Given the description of an element on the screen output the (x, y) to click on. 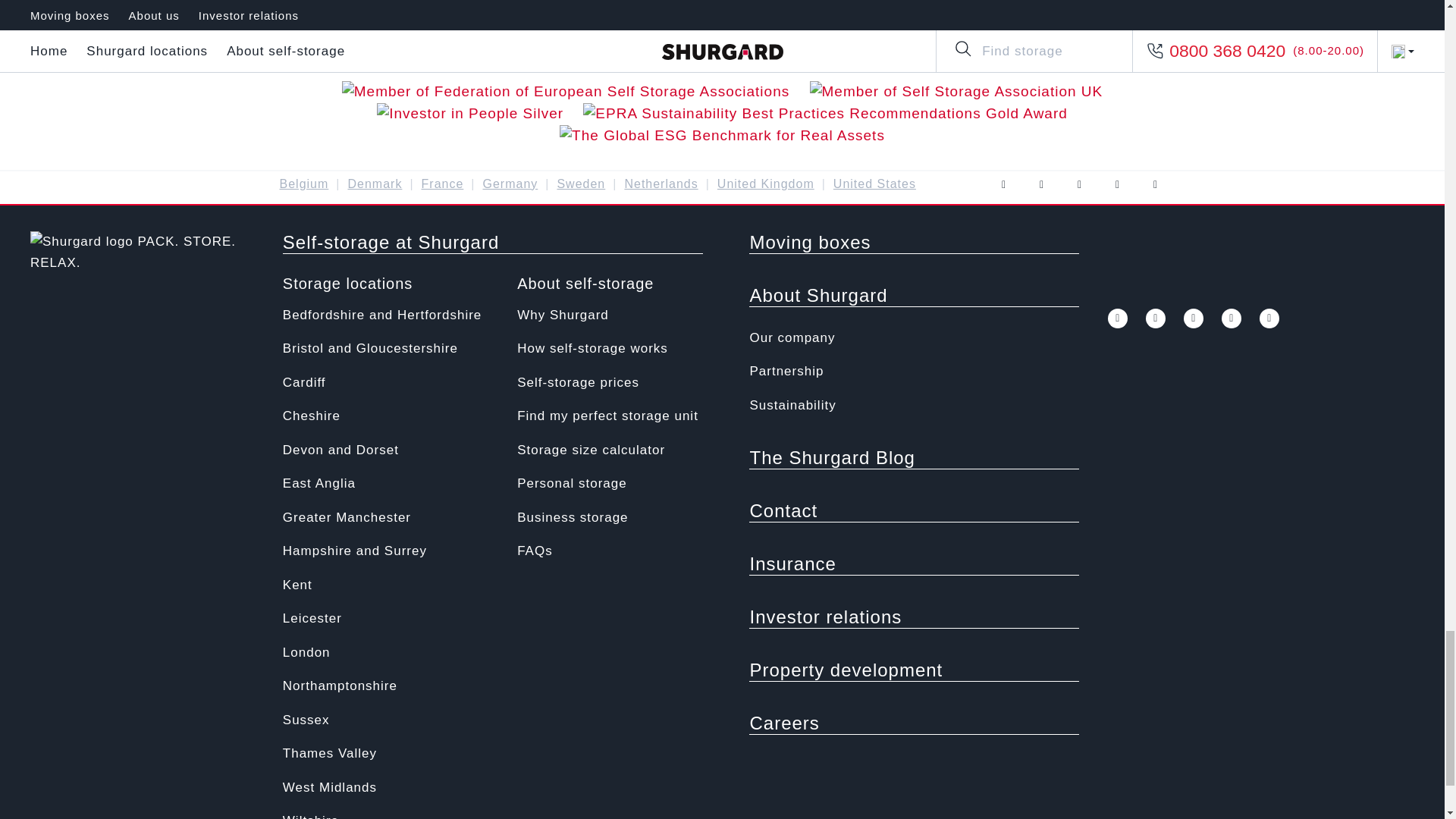
facebook (1117, 318)
facebook (1002, 184)
pinterest (1116, 184)
twitter (1040, 184)
linkedin (1154, 184)
youtube (1078, 184)
youtube (1193, 318)
linkedin (1269, 318)
twitter (1155, 318)
pinterest (1231, 318)
